Given the description of an element on the screen output the (x, y) to click on. 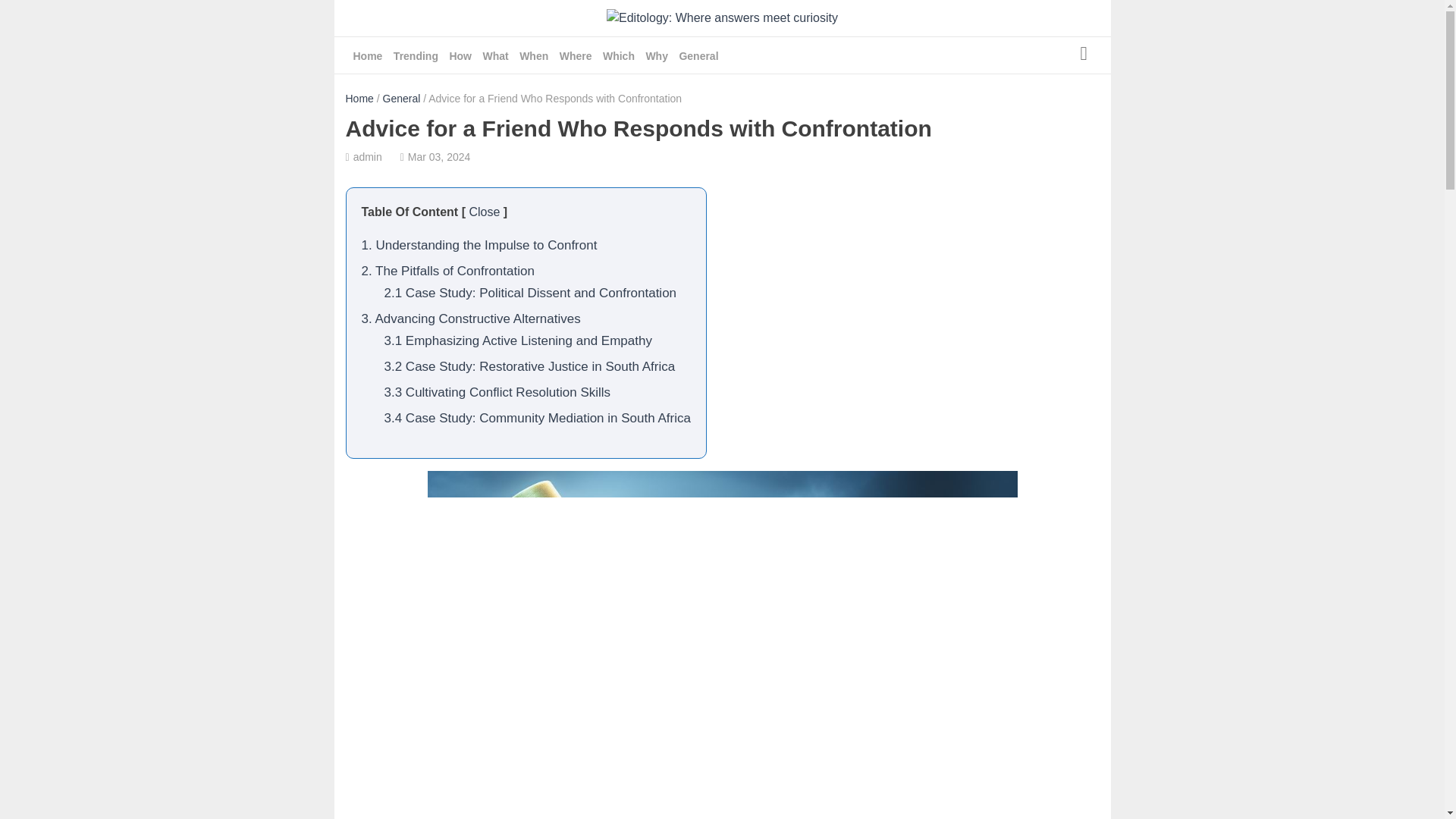
General (401, 98)
3.2 Case Study: Restorative Justice in South Africa (529, 366)
3.1 Emphasizing Active Listening and Empathy (517, 340)
2. The Pitfalls of Confrontation (447, 270)
3. Advancing Constructive Alternatives (470, 318)
Close (483, 211)
General (697, 55)
Trending (415, 55)
3.4 Case Study: Community Mediation in South Africa (537, 418)
1. Understanding the Impulse to Confront (478, 245)
